Given the description of an element on the screen output the (x, y) to click on. 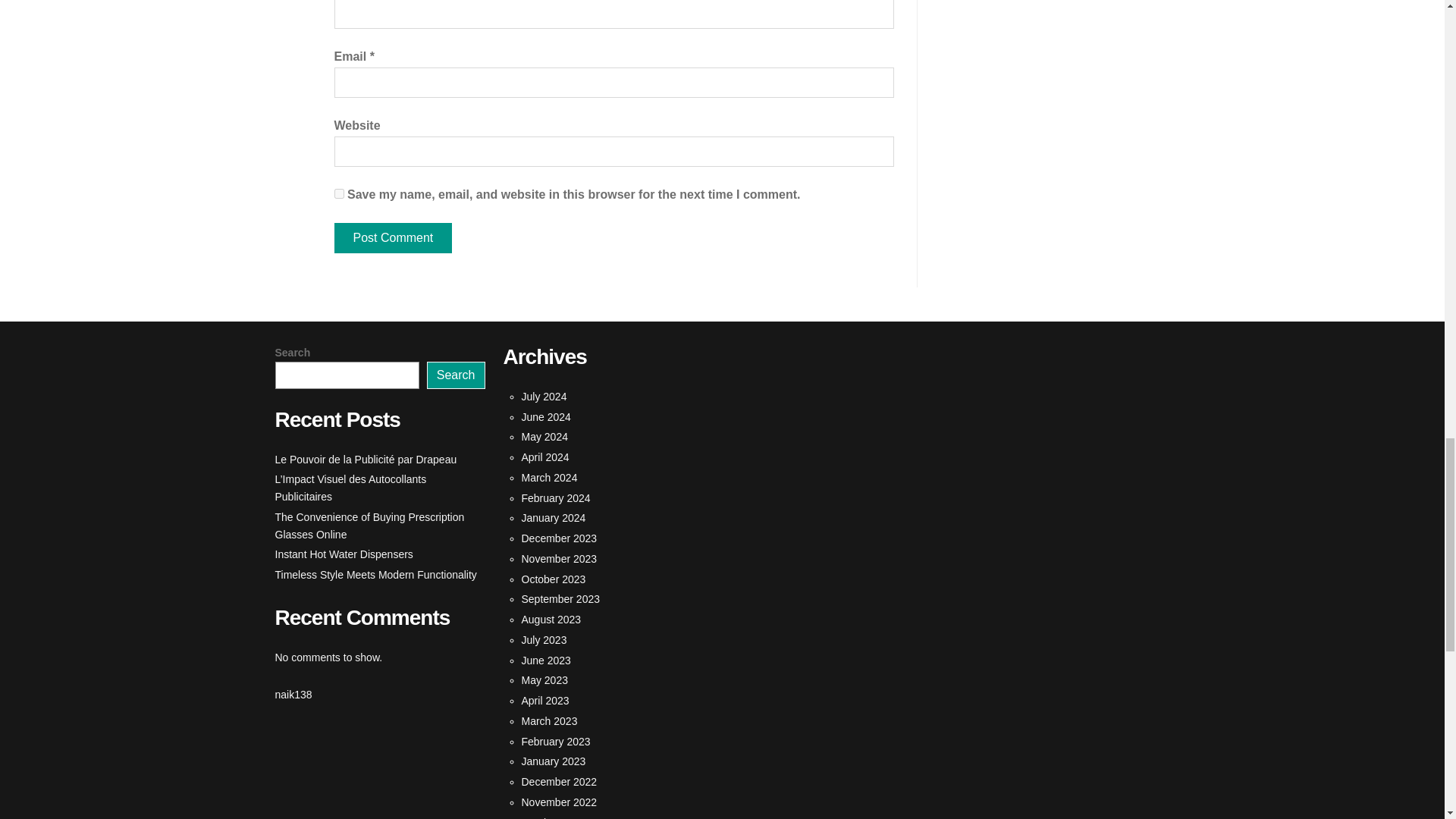
October 2023 (553, 579)
Post Comment (392, 237)
April 2024 (545, 457)
March 2024 (549, 477)
Instant Hot Water Dispensers (343, 553)
Search (455, 375)
September 2023 (560, 598)
May 2024 (544, 436)
July 2024 (544, 396)
yes (338, 194)
Post Comment (392, 237)
February 2024 (556, 498)
July 2023 (544, 639)
November 2023 (558, 558)
naik138 (293, 694)
